Given the description of an element on the screen output the (x, y) to click on. 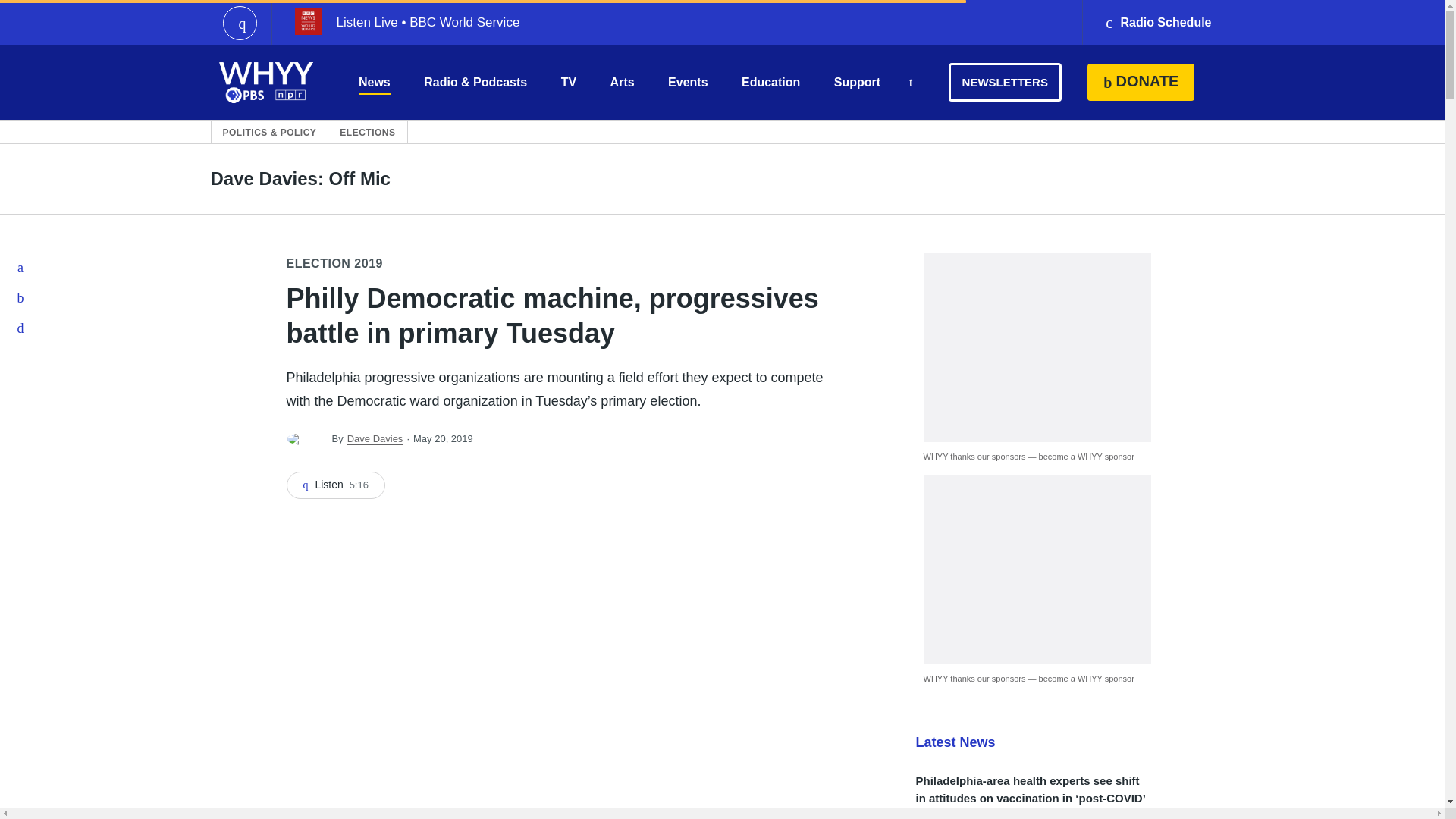
ELECTIONS (366, 132)
Facebook (21, 267)
Email (21, 327)
Search (910, 83)
Radio Schedule (1157, 22)
WHYY (266, 82)
Dave Davies: Off Mic (300, 178)
Twitter (21, 297)
